Given the description of an element on the screen output the (x, y) to click on. 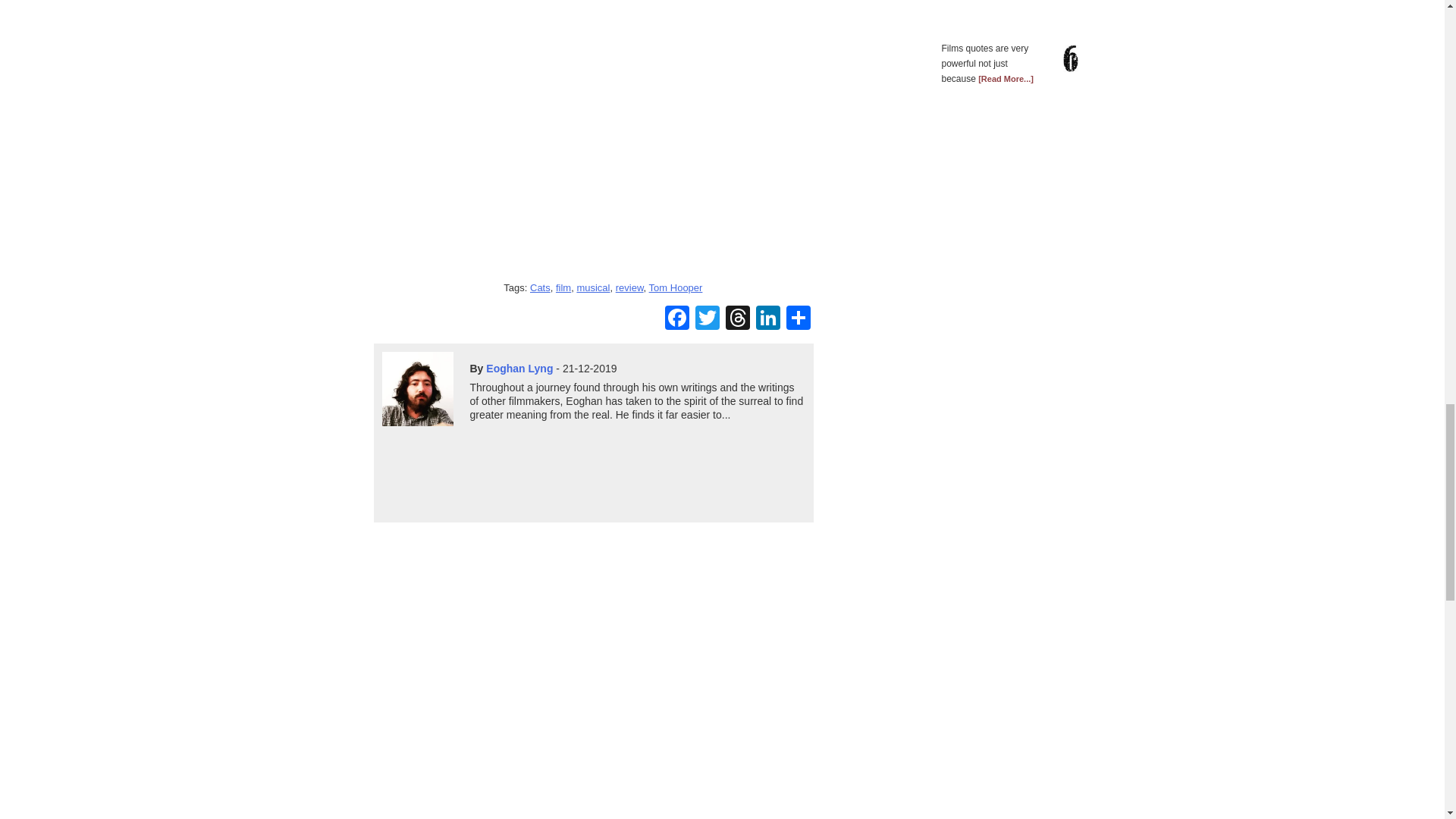
Twitter (706, 319)
Tom Hooper (676, 287)
film (563, 287)
Twitter (706, 319)
Facebook (676, 319)
musical (593, 287)
Share (797, 319)
Cats (539, 287)
Facebook (676, 319)
LinkedIn (767, 319)
